Given the description of an element on the screen output the (x, y) to click on. 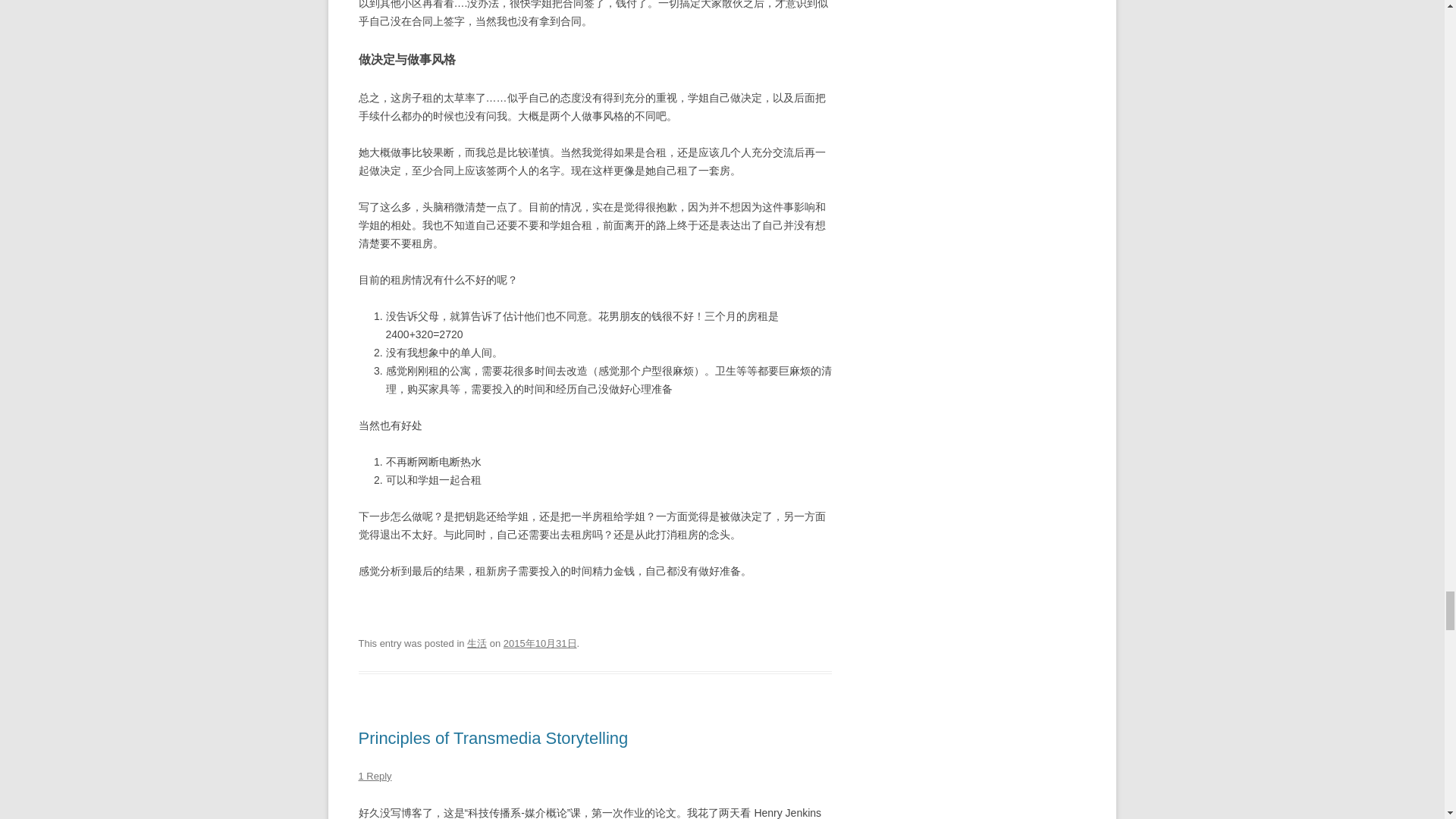
pm6:54 (539, 643)
